Given the description of an element on the screen output the (x, y) to click on. 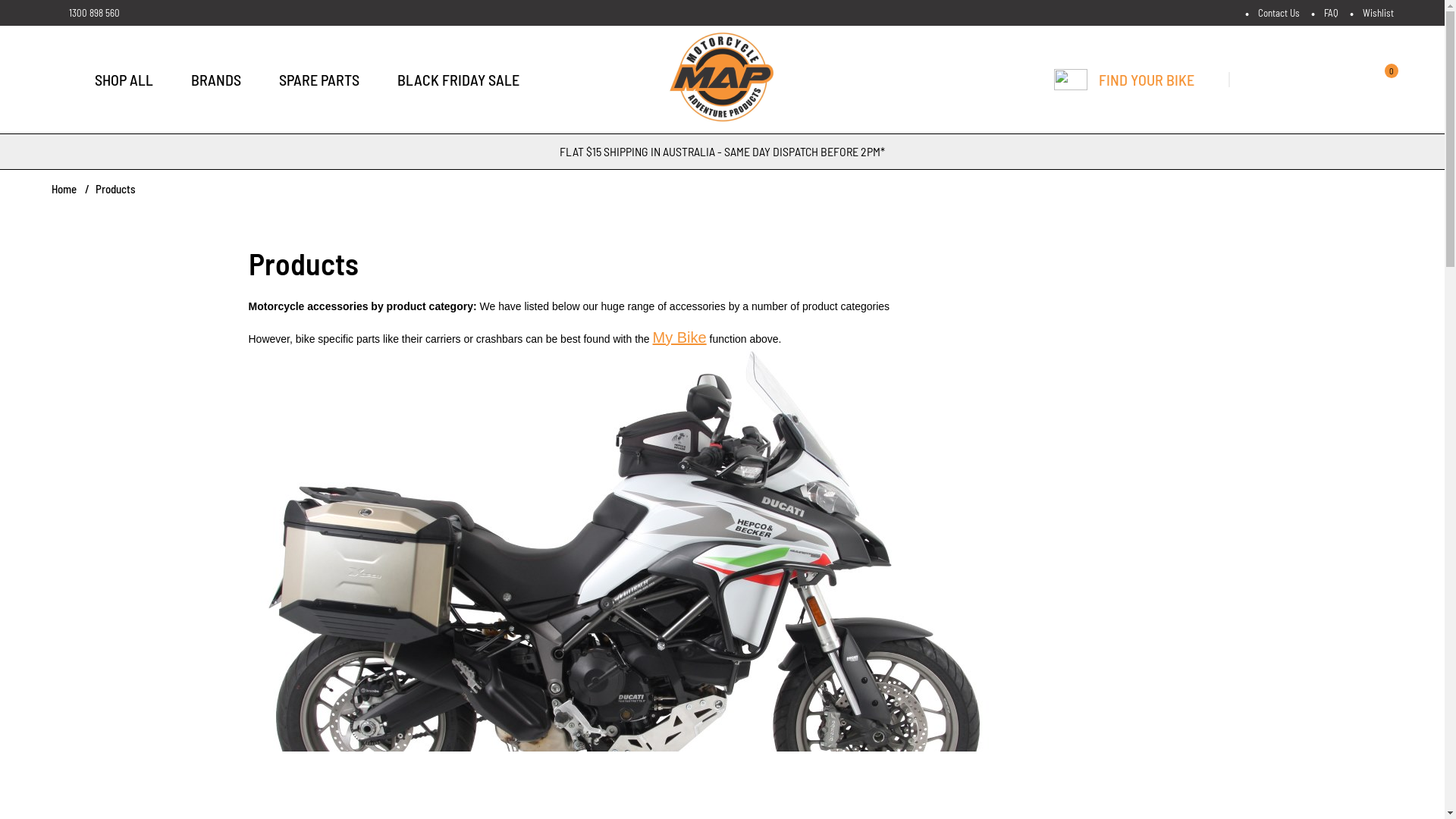
FAQ Element type: text (1331, 12)
Motorcycle Adventure Products Element type: hover (722, 79)
My Bike Element type: text (679, 337)
Contact Us Element type: text (1278, 12)
Products Element type: text (115, 188)
Wishlist Element type: text (1377, 12)
BLACK FRIDAY SALE Element type: text (458, 79)
1300 898 560 Element type: text (85, 12)
SPARE PARTS Element type: text (319, 79)
Home Element type: text (63, 188)
